Given the description of an element on the screen output the (x, y) to click on. 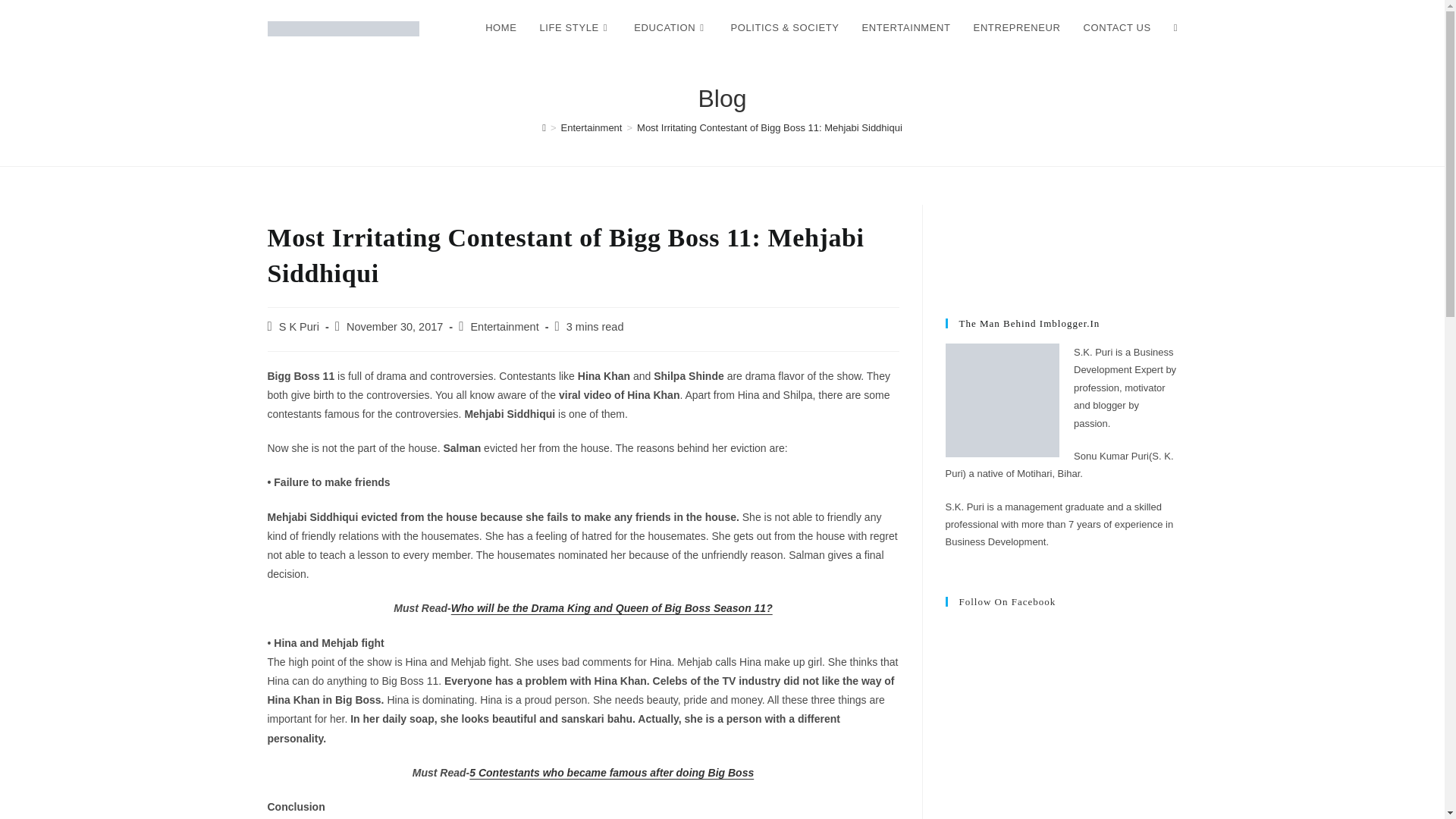
HOME (500, 28)
Posts by S K Puri (298, 326)
S K Puri (298, 326)
Entertainment (504, 326)
Entertainment (591, 127)
ENTREPRENEUR (1016, 28)
EDUCATION (671, 28)
CONTACT US (1116, 28)
LIFE STYLE (575, 28)
